Given the description of an element on the screen output the (x, y) to click on. 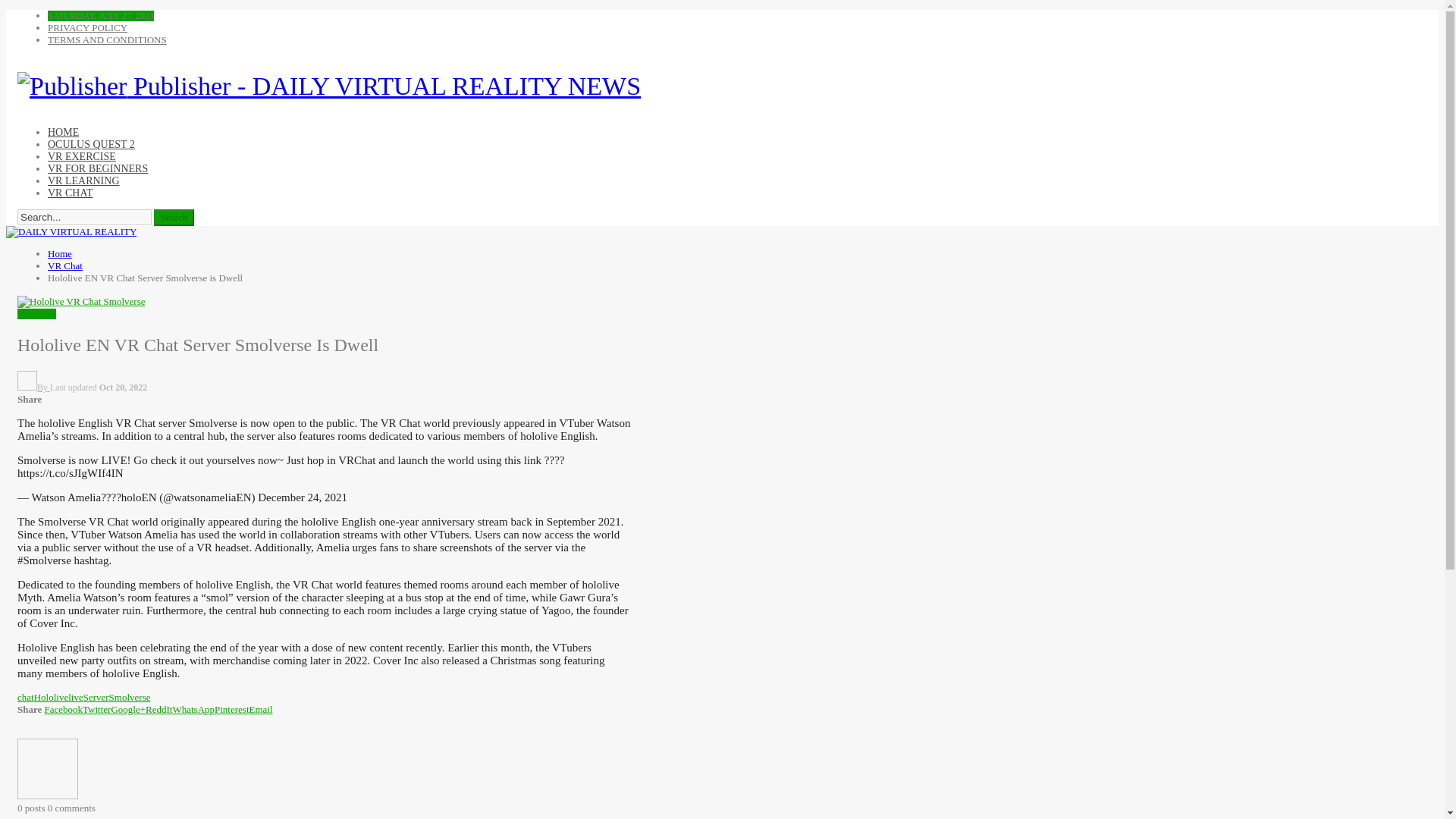
WhatsApp (192, 708)
By (33, 387)
VR CHAT (70, 193)
Home (59, 253)
Server (95, 696)
ReddIt (158, 708)
Publisher - DAILY VIRTUAL REALITY NEWS (328, 85)
HOME (63, 132)
Browse Author Articles (47, 795)
OCULUS QUEST 2 (91, 143)
chat (25, 696)
VR Chat (65, 265)
Email (260, 708)
Search (173, 217)
Search (173, 217)
